Given the description of an element on the screen output the (x, y) to click on. 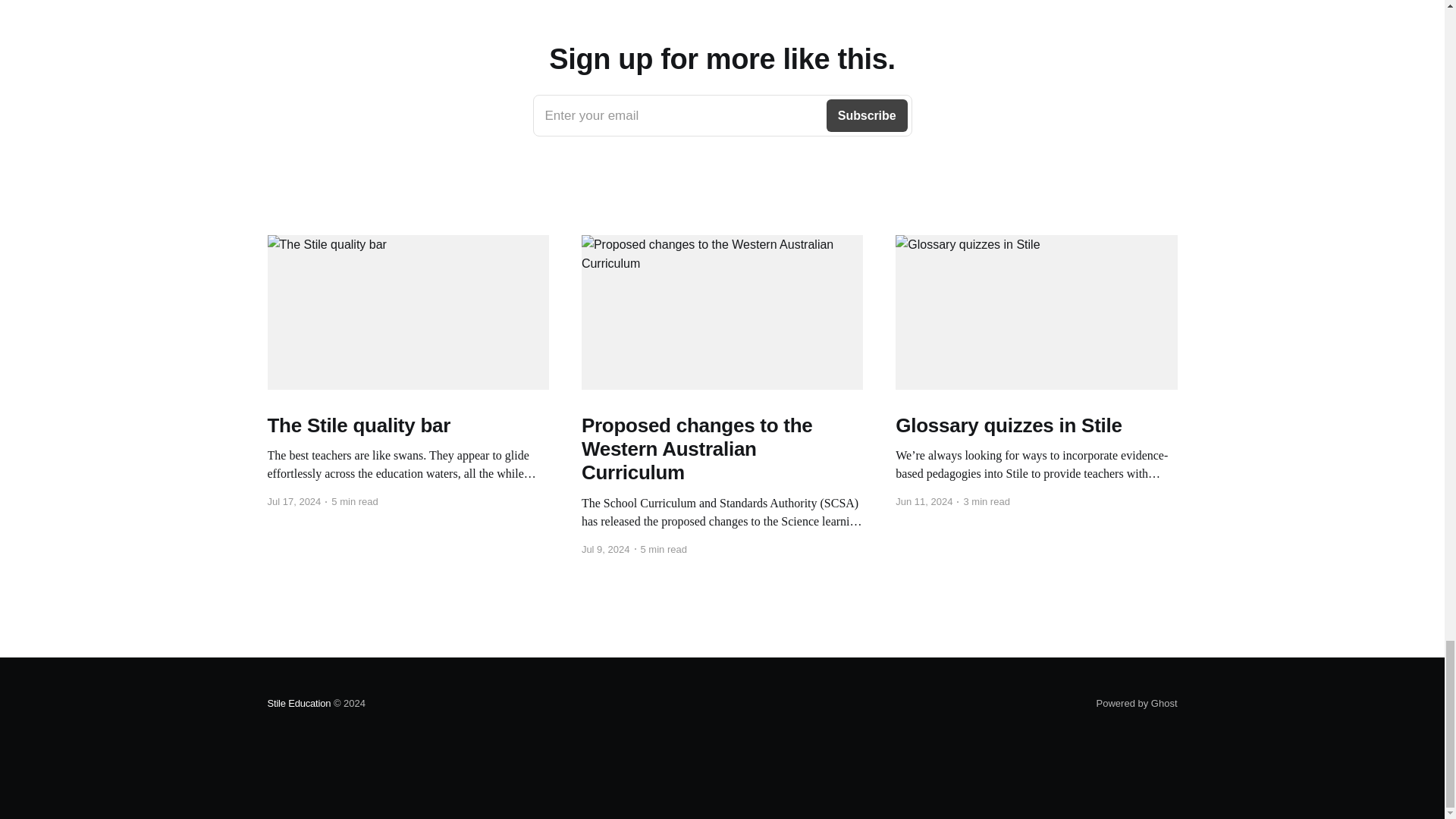
Powered by Ghost (721, 116)
Stile Education (1136, 703)
